Given the description of an element on the screen output the (x, y) to click on. 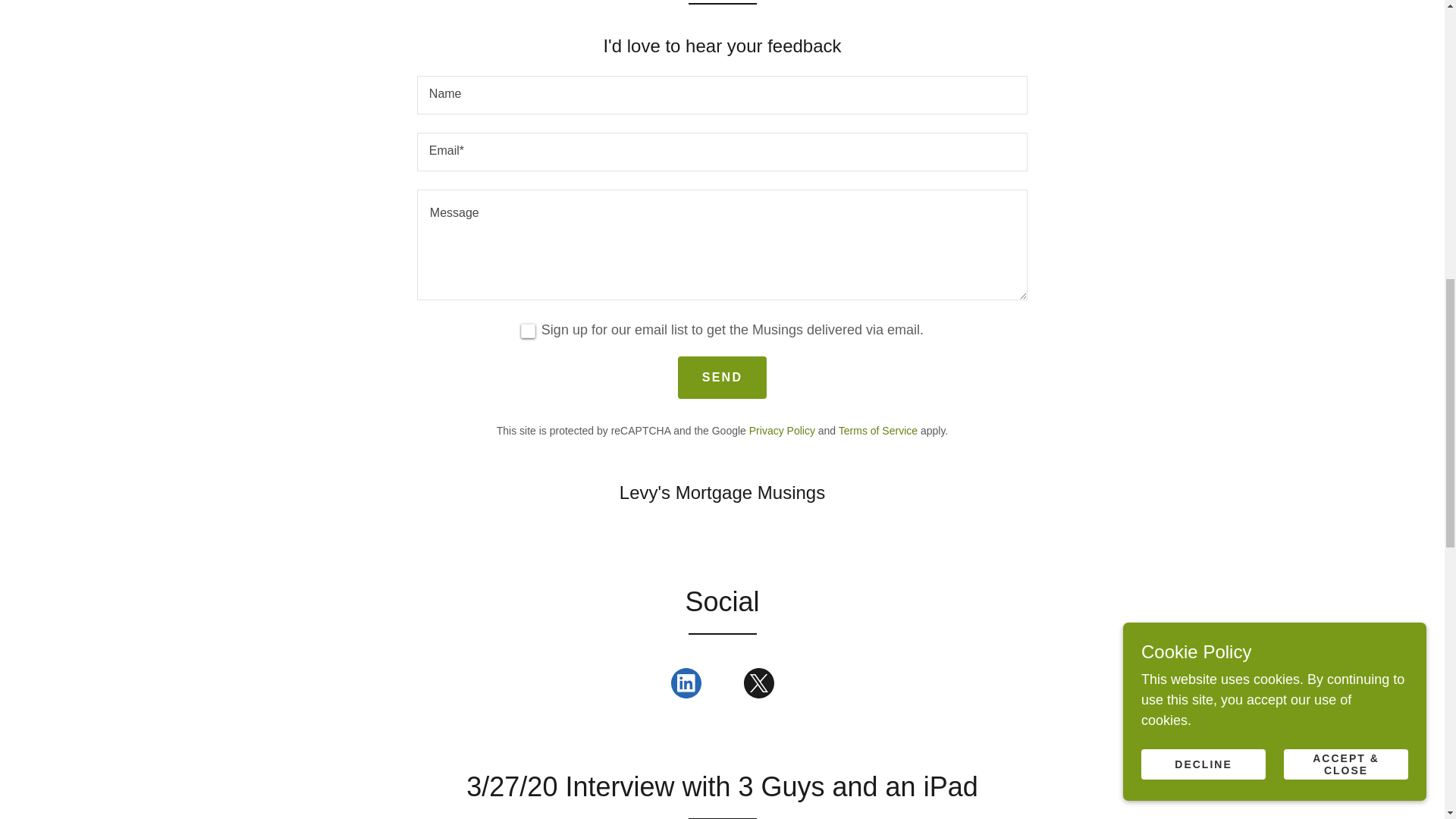
SEND (722, 377)
Privacy Policy (782, 430)
Terms of Service (877, 430)
